Given the description of an element on the screen output the (x, y) to click on. 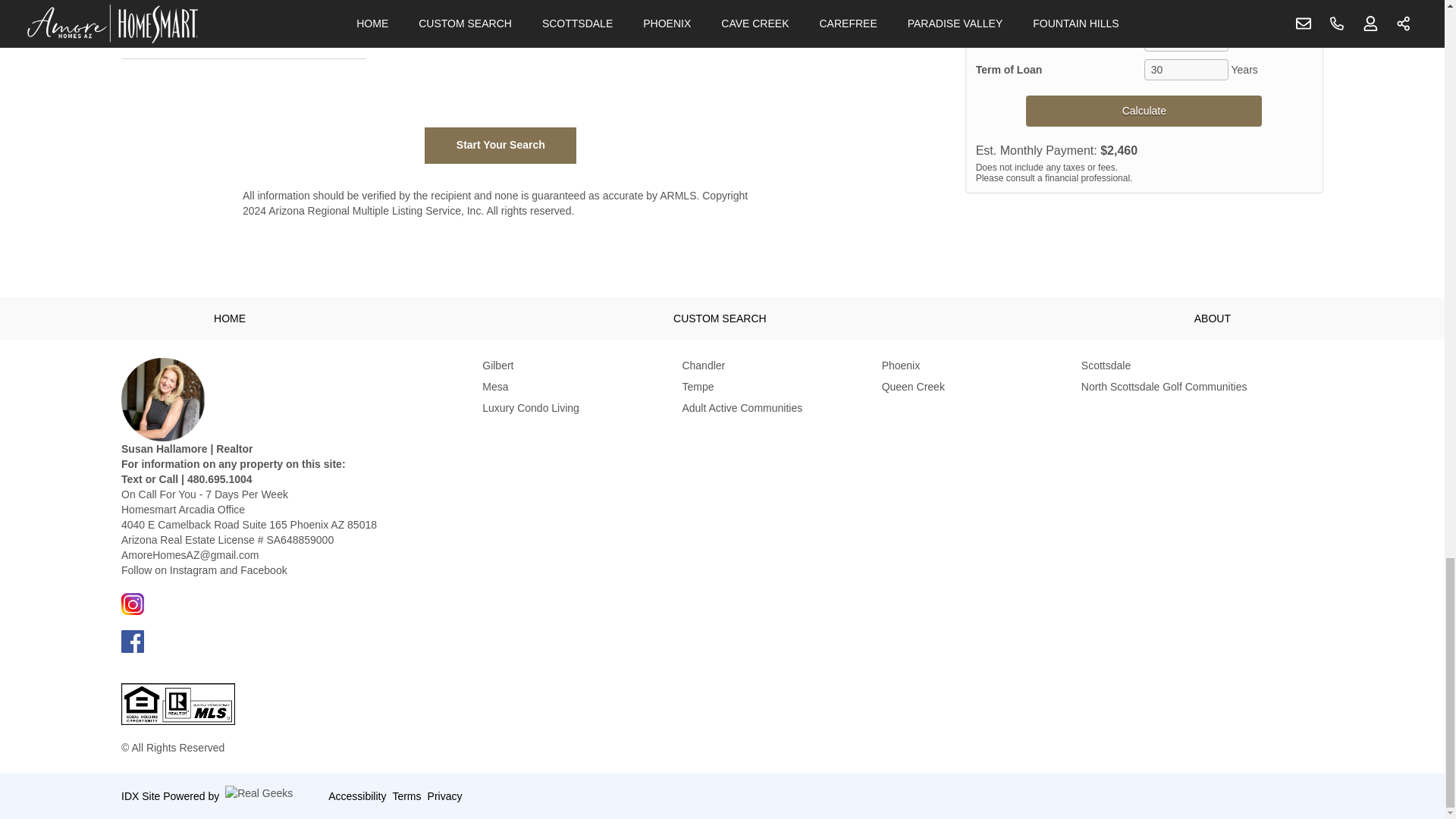
4.25 (1186, 40)
500000 (1228, 11)
30 (1186, 69)
